Given the description of an element on the screen output the (x, y) to click on. 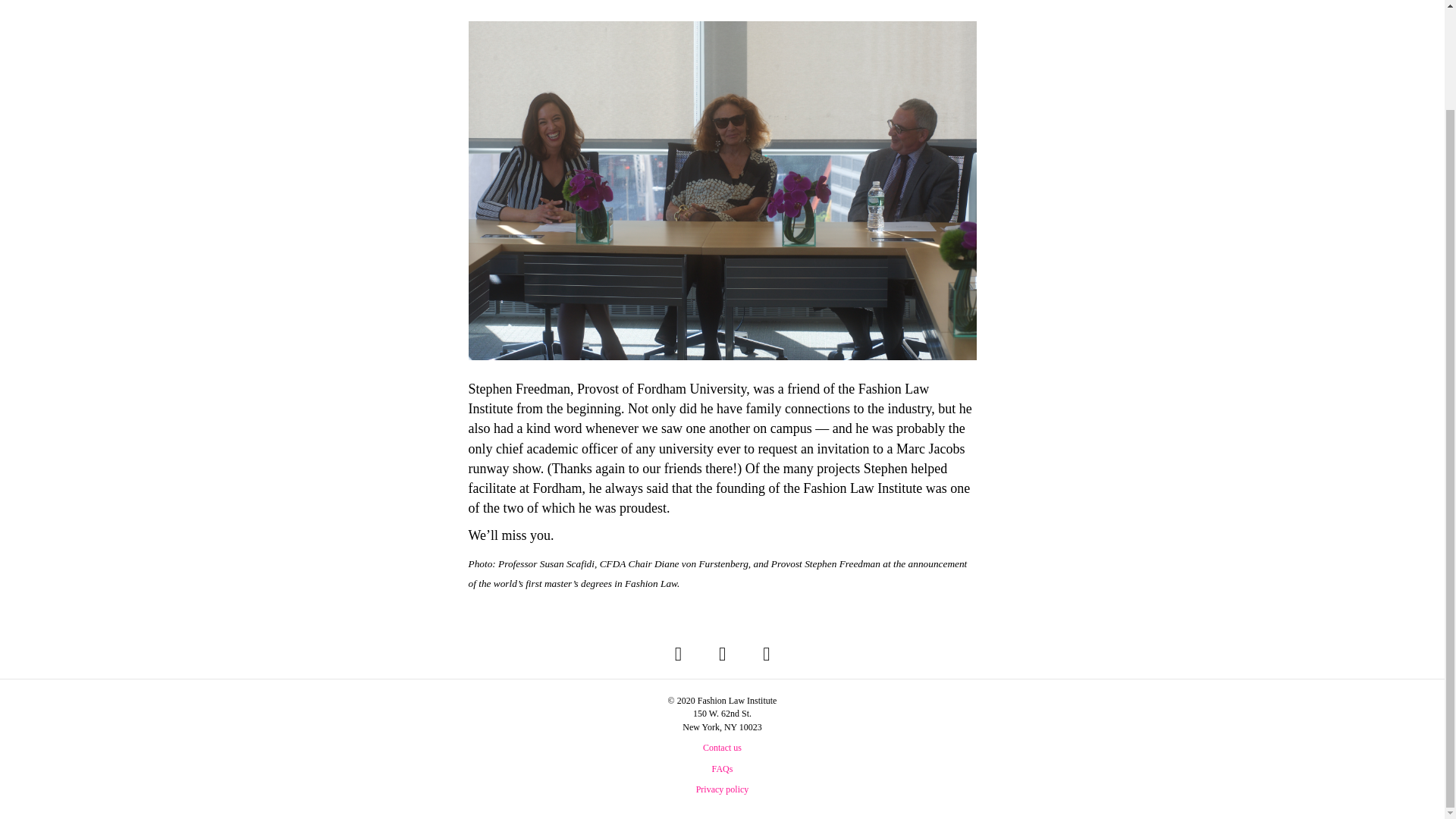
Contact us (722, 747)
FAQs (722, 768)
Privacy policy (722, 788)
